Given the description of an element on the screen output the (x, y) to click on. 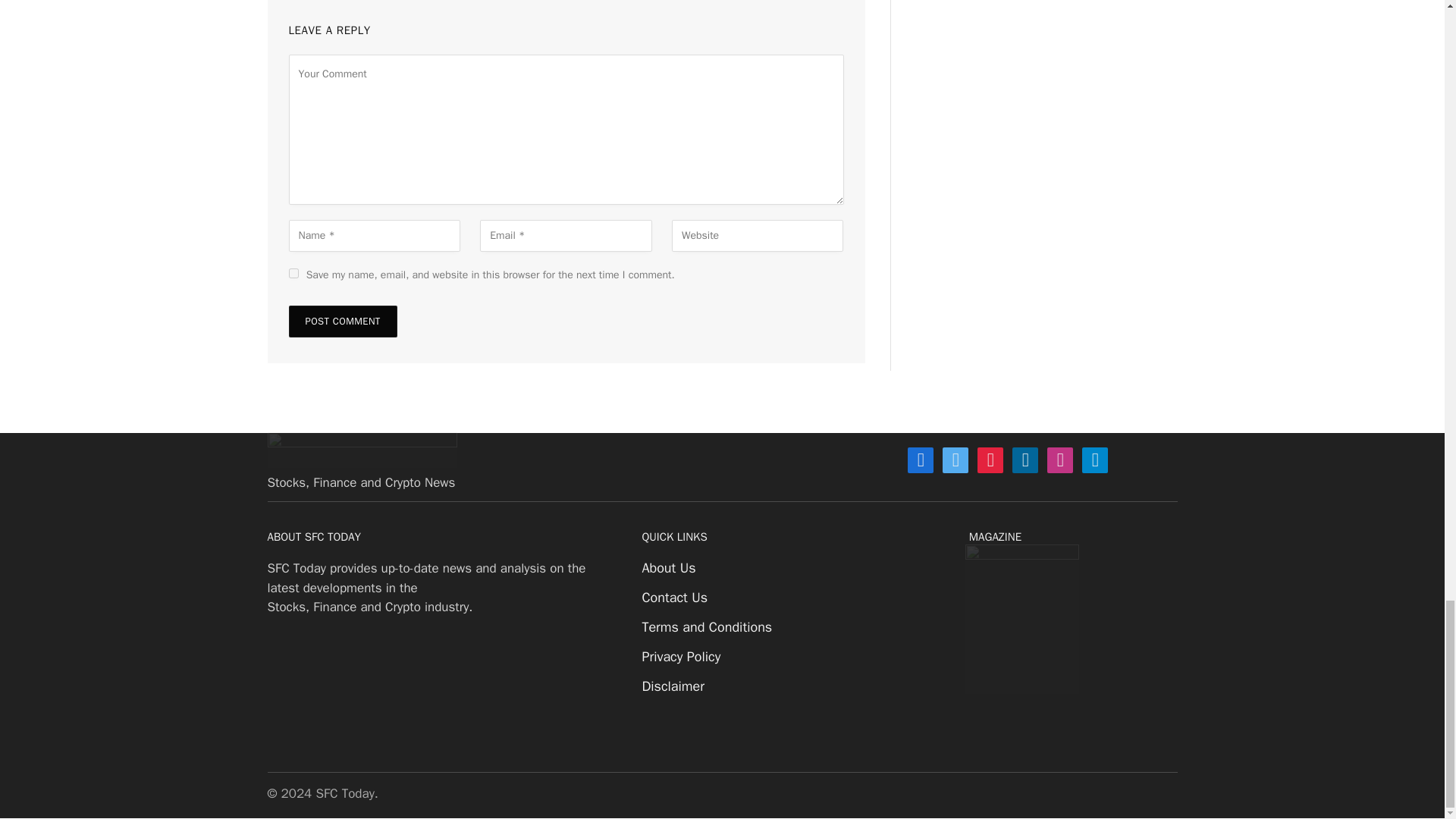
Post Comment (342, 321)
yes (293, 273)
